Given the description of an element on the screen output the (x, y) to click on. 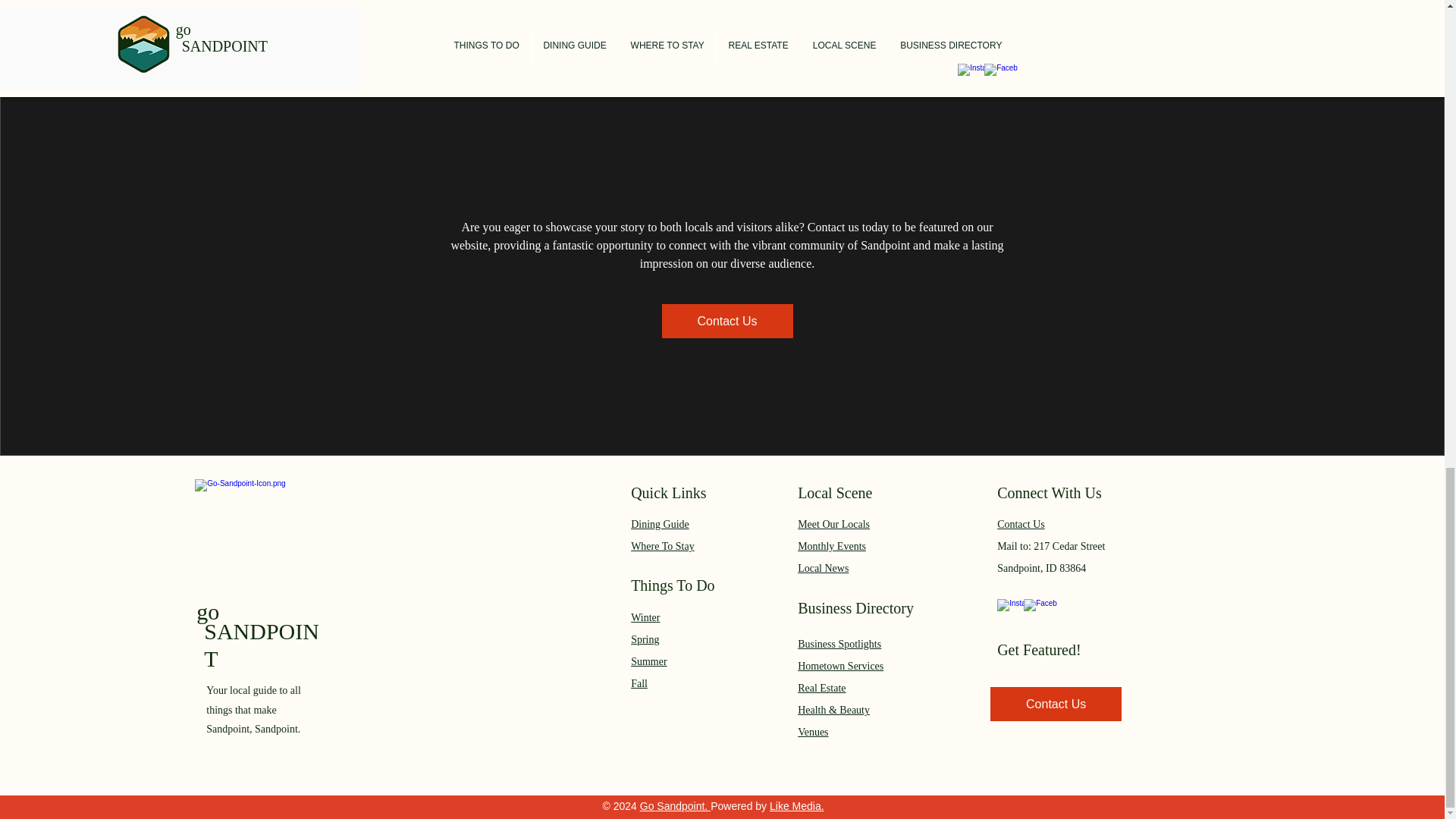
0 (685, 185)
Post not marked as liked (806, 185)
0 (439, 185)
Post not marked as liked (560, 185)
